Given the description of an element on the screen output the (x, y) to click on. 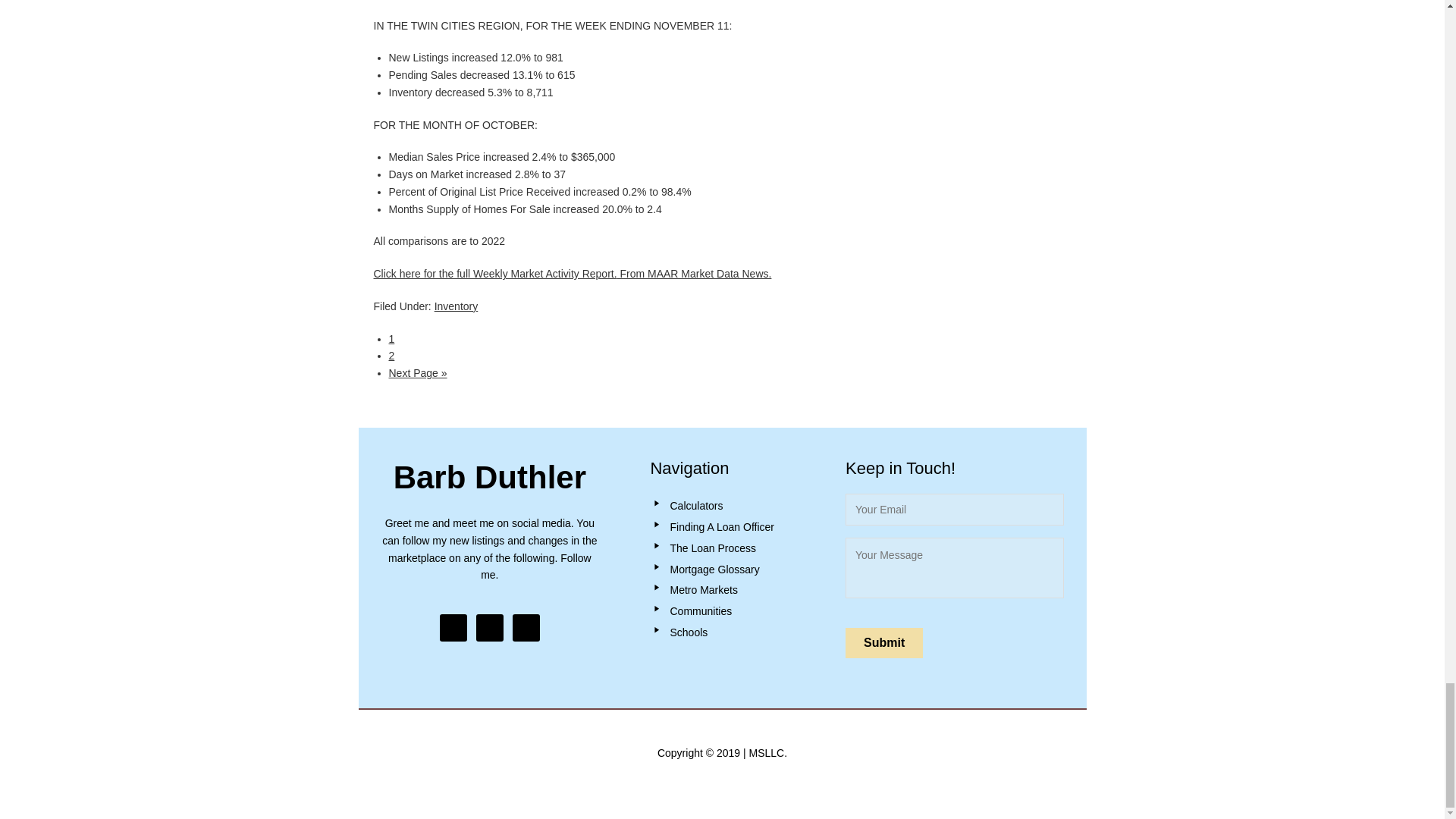
Submit (884, 643)
